Given the description of an element on the screen output the (x, y) to click on. 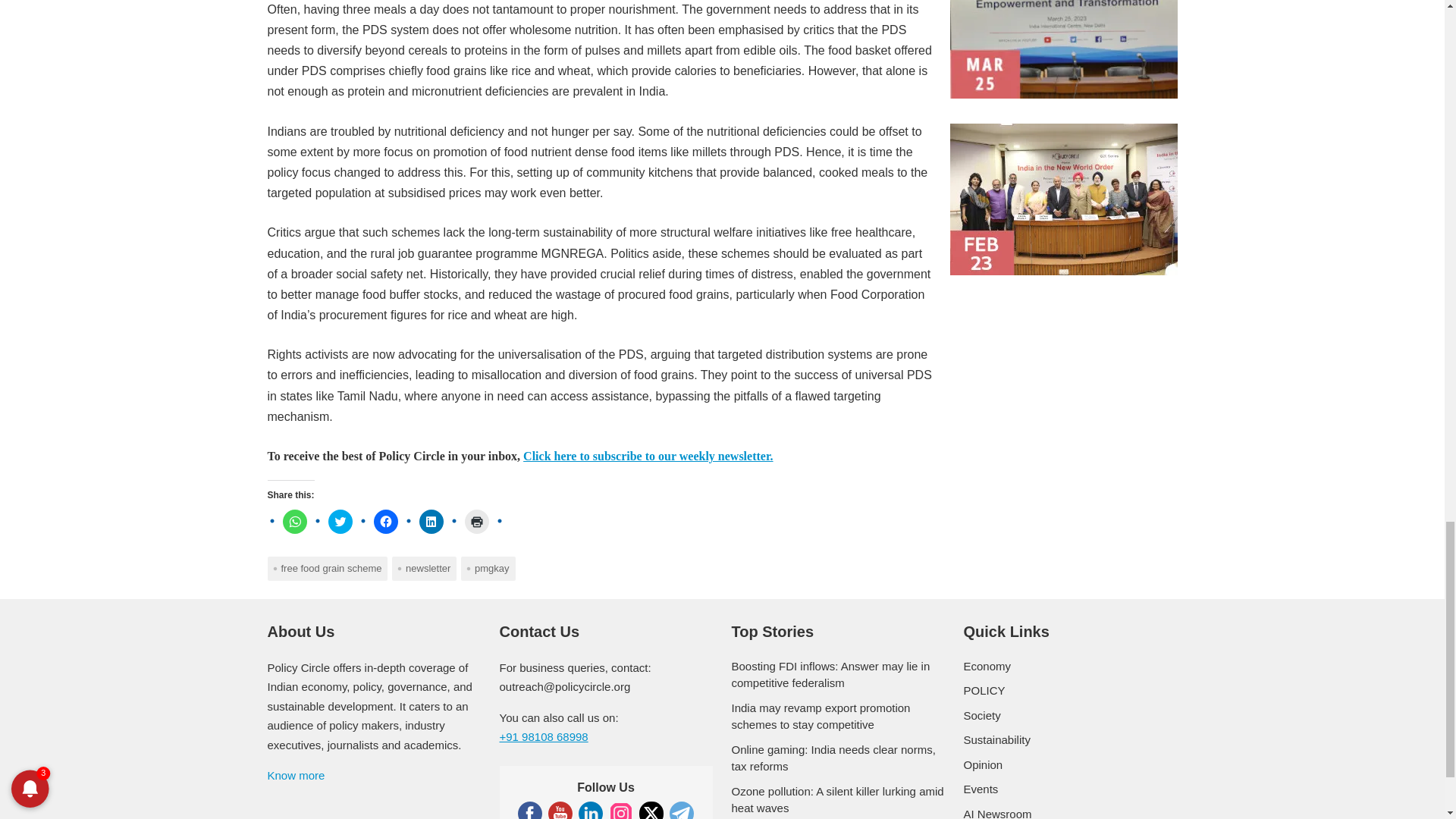
Click to share on Twitter (339, 521)
Click to share on LinkedIn (430, 521)
Click to share on Facebook (384, 521)
Click to print (475, 521)
Click to share on WhatsApp (293, 521)
